Given the description of an element on the screen output the (x, y) to click on. 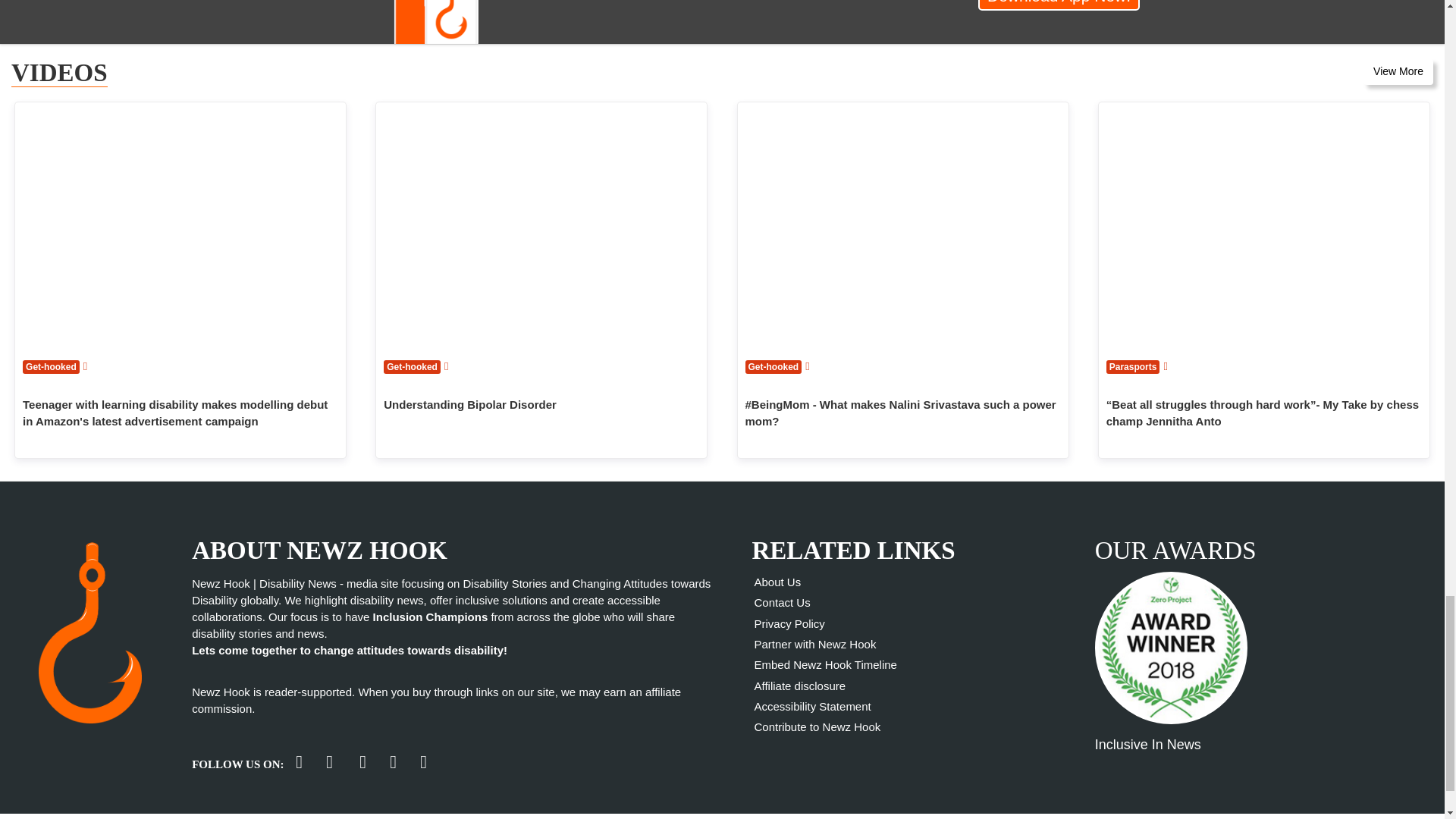
Understanding Bipolar Disorder (540, 226)
Newz Hook on Twitter (298, 761)
